Given the description of an element on the screen output the (x, y) to click on. 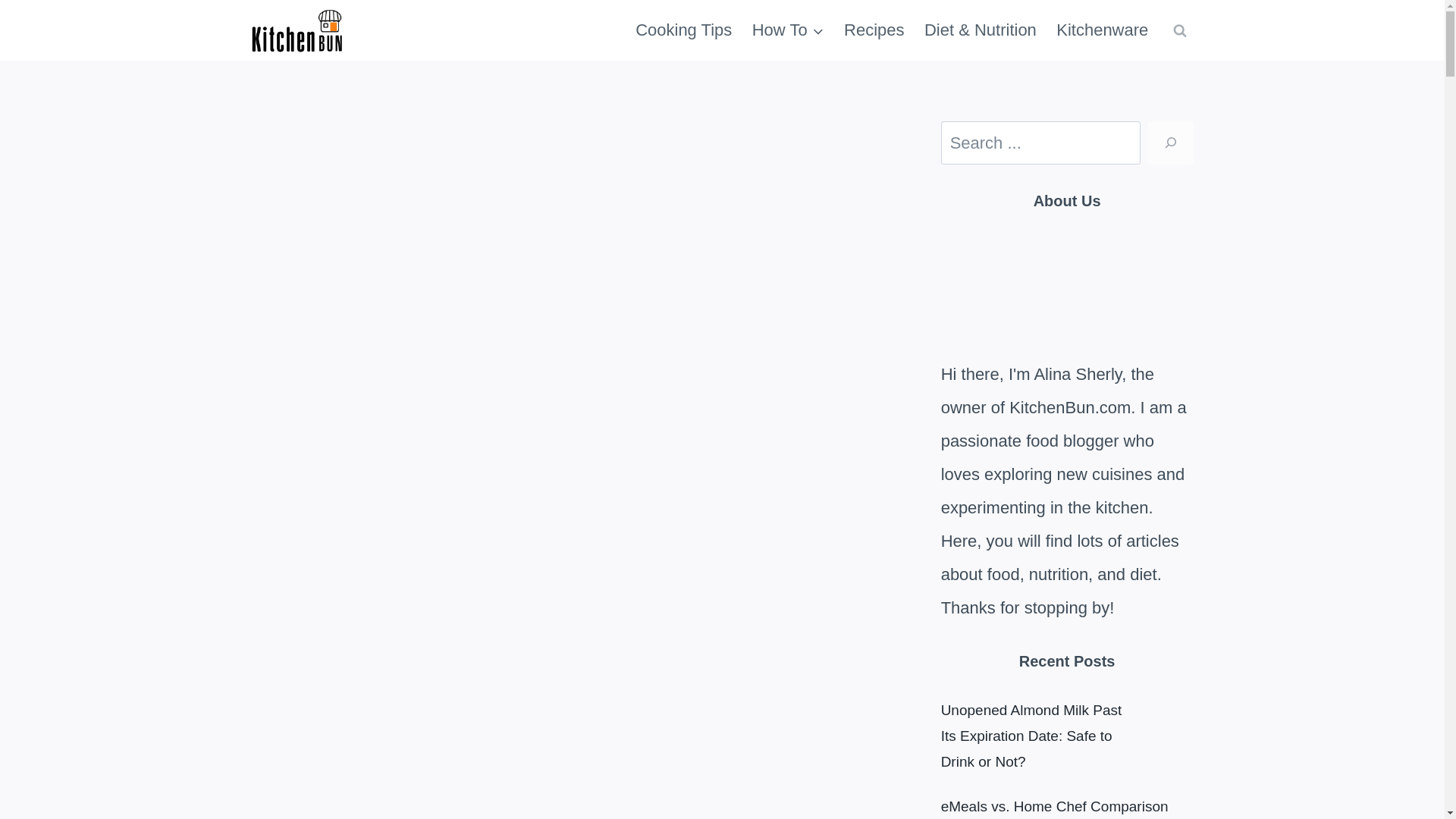
How To (788, 29)
Recipes (874, 29)
Cooking Tips (684, 29)
Kitchenware (1101, 29)
